Given the description of an element on the screen output the (x, y) to click on. 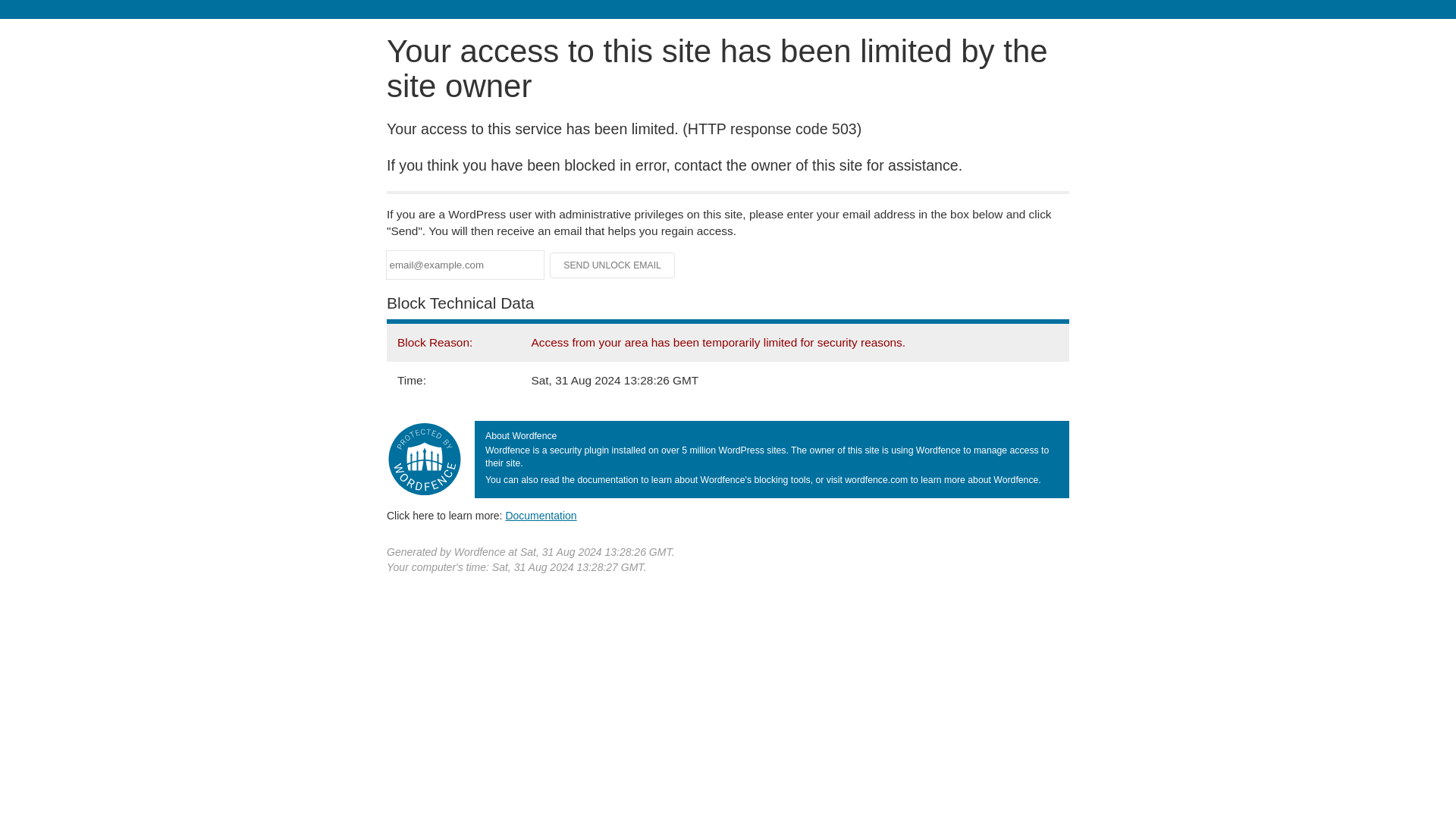
Send Unlock Email (612, 265)
Send Unlock Email (612, 265)
Documentation (540, 515)
